Given the description of an element on the screen output the (x, y) to click on. 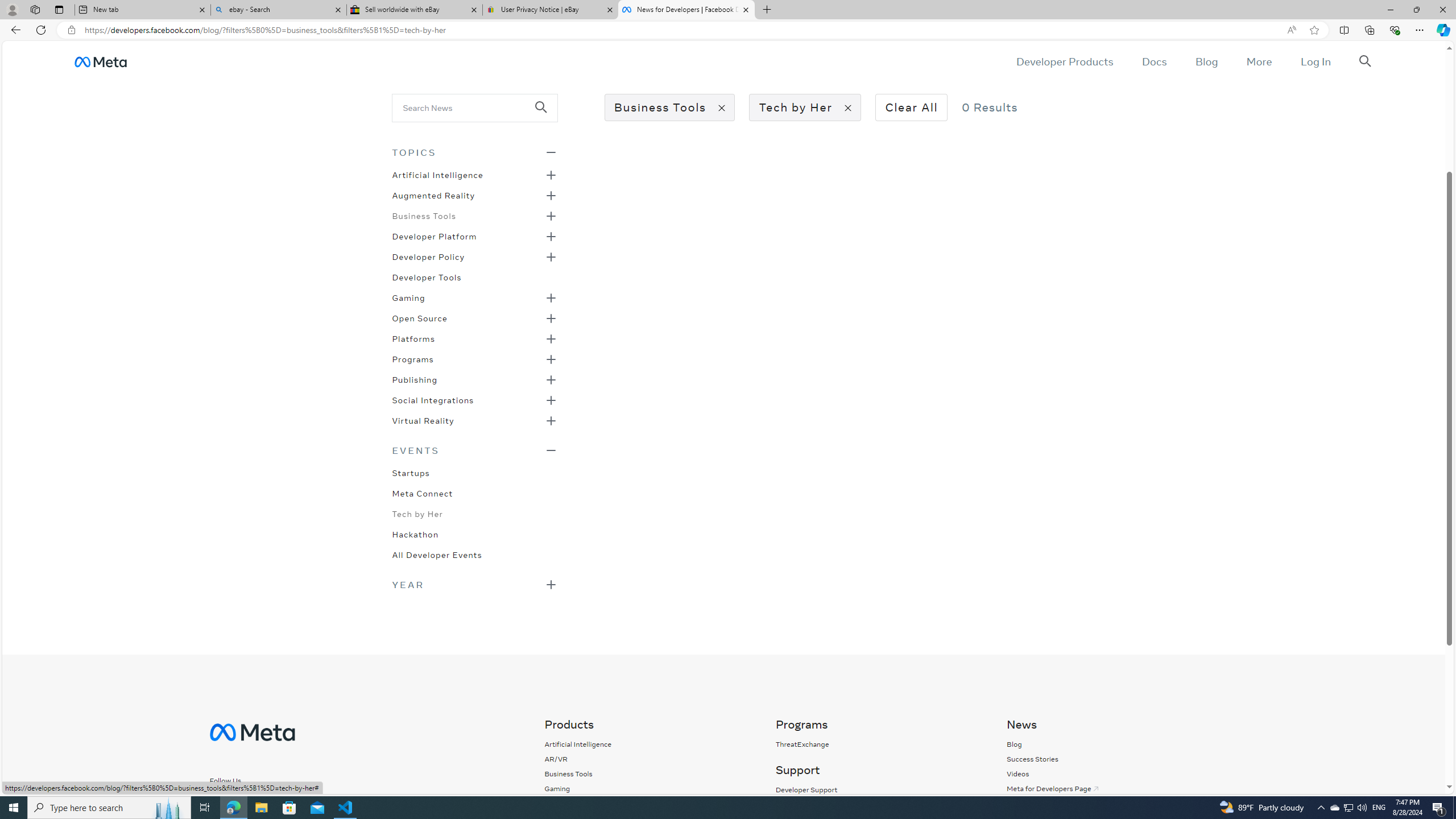
User Privacy Notice | eBay (550, 9)
Class: _98ce (545, 115)
Follow us on Instagram (247, 801)
Class: _98ex _98ez (474, 423)
Follow us on Instagram (241, 800)
Business Tools (423, 214)
Meta for Developers Page (1110, 788)
Follow us on Twitter (272, 801)
Docs (1153, 61)
Blog (1110, 743)
Follow us on Facebook (216, 800)
Business Tools (568, 773)
